Given the description of an element on the screen output the (x, y) to click on. 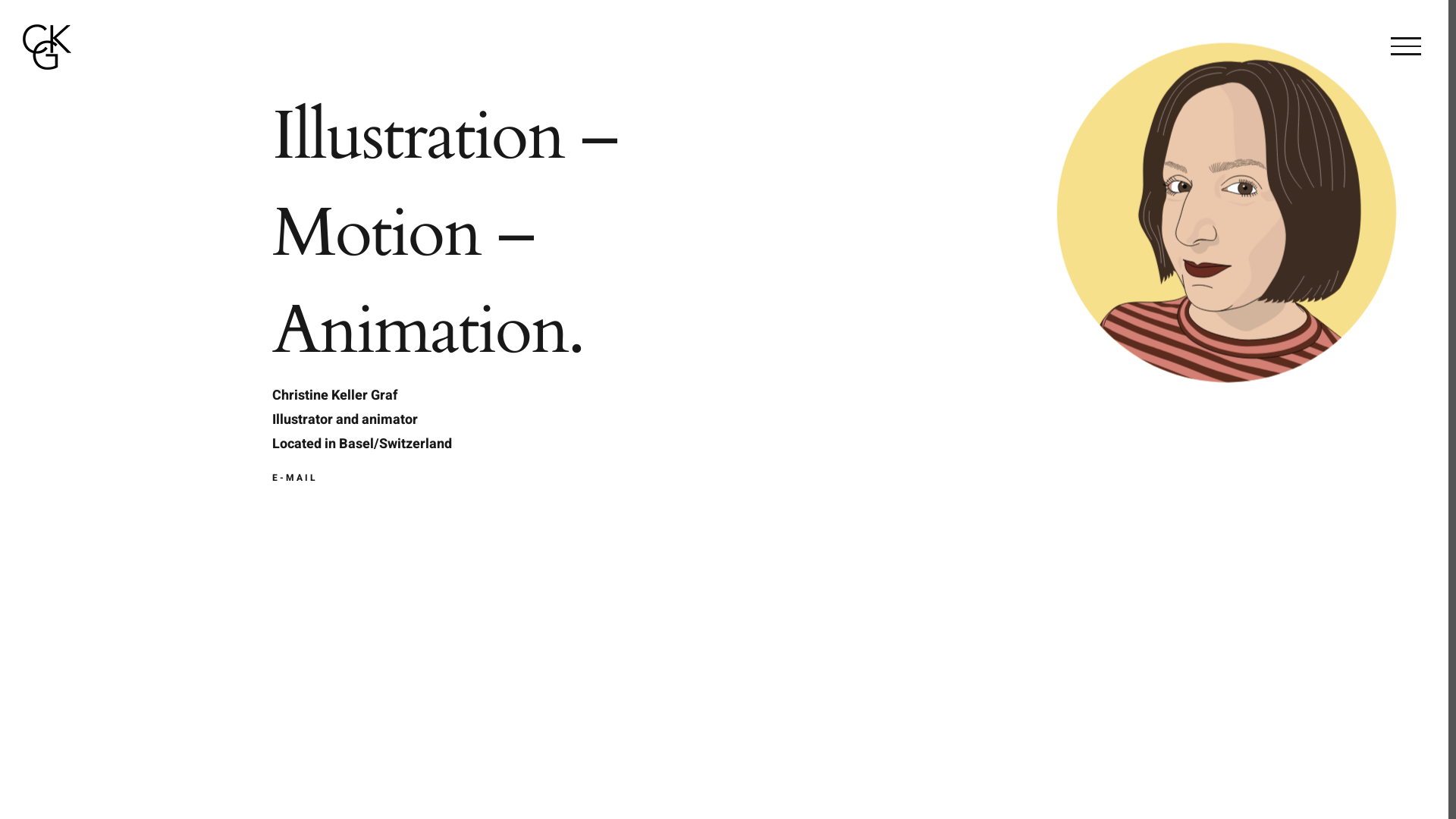
E-MAIL Element type: text (294, 477)
